Given the description of an element on the screen output the (x, y) to click on. 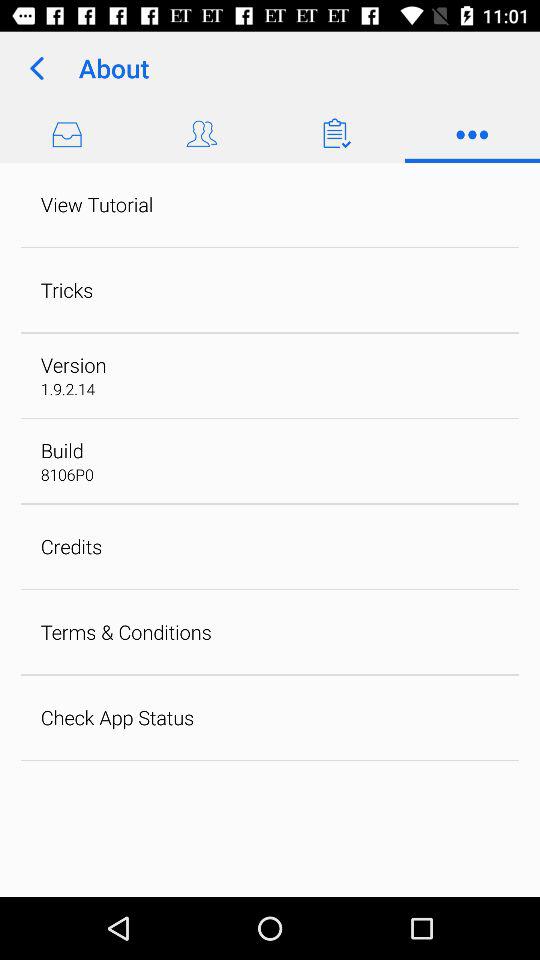
click the version app (73, 364)
